Given the description of an element on the screen output the (x, y) to click on. 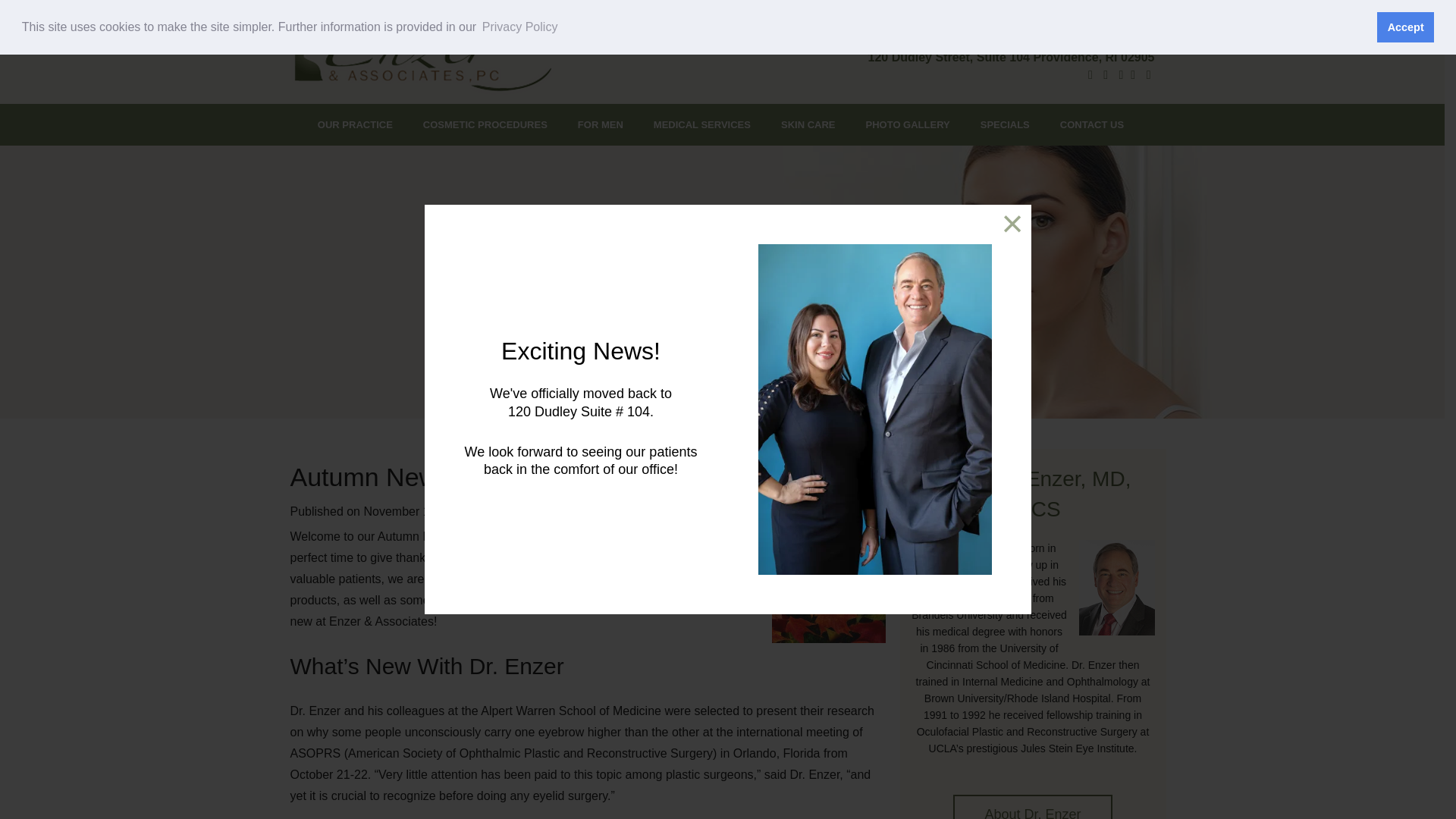
OUR PRACTICE (355, 124)
Privacy Policy (520, 26)
Accept (1405, 27)
COSMETIC PROCEDURES (484, 124)
401-274-4464 (1088, 29)
120 Dudley Street, Suite 104 Providence, RI 02905 (1010, 56)
